Given the description of an element on the screen output the (x, y) to click on. 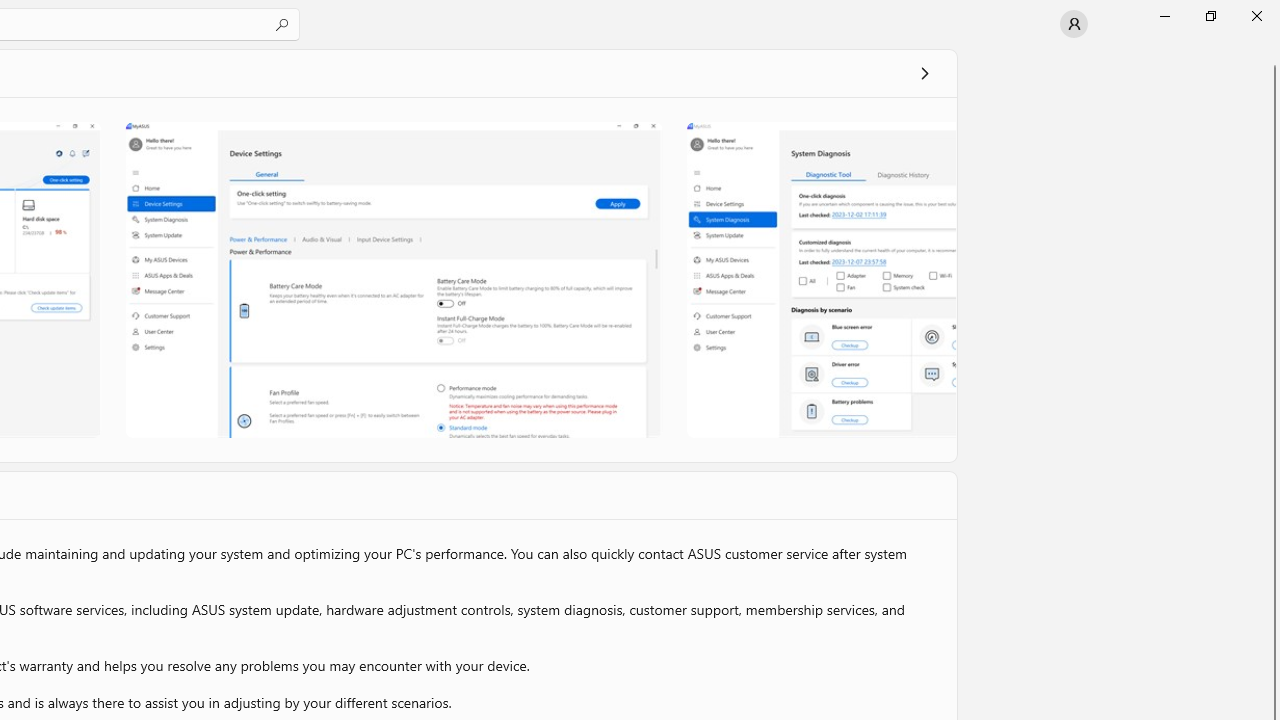
Vertical Small Decrease (1272, 55)
Screenshot 2 (393, 279)
Screenshot 3 (820, 279)
See all (924, 72)
